Given the description of an element on the screen output the (x, y) to click on. 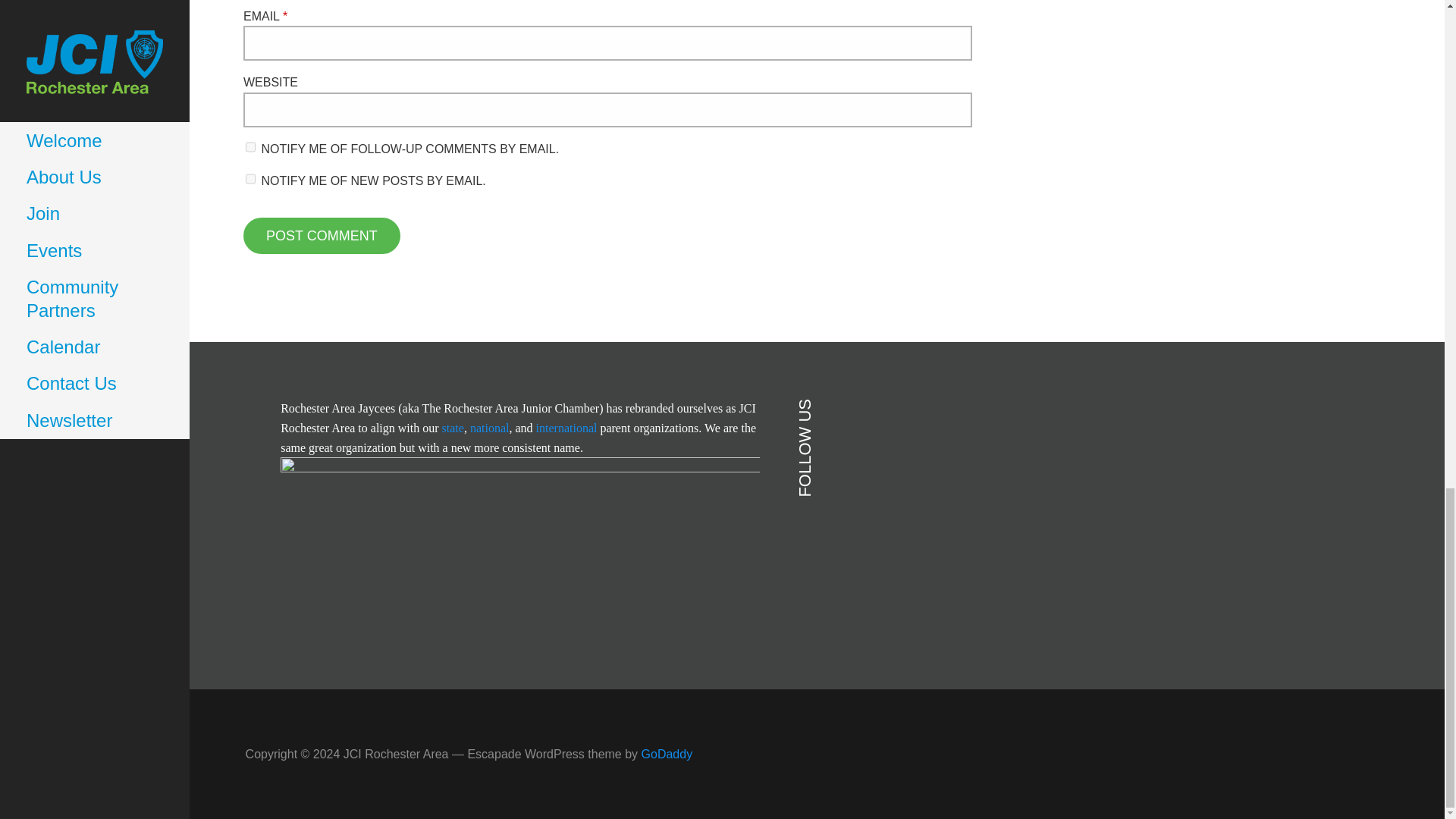
subscribe (251, 146)
subscribe (251, 178)
Post Comment (321, 235)
